Given the description of an element on the screen output the (x, y) to click on. 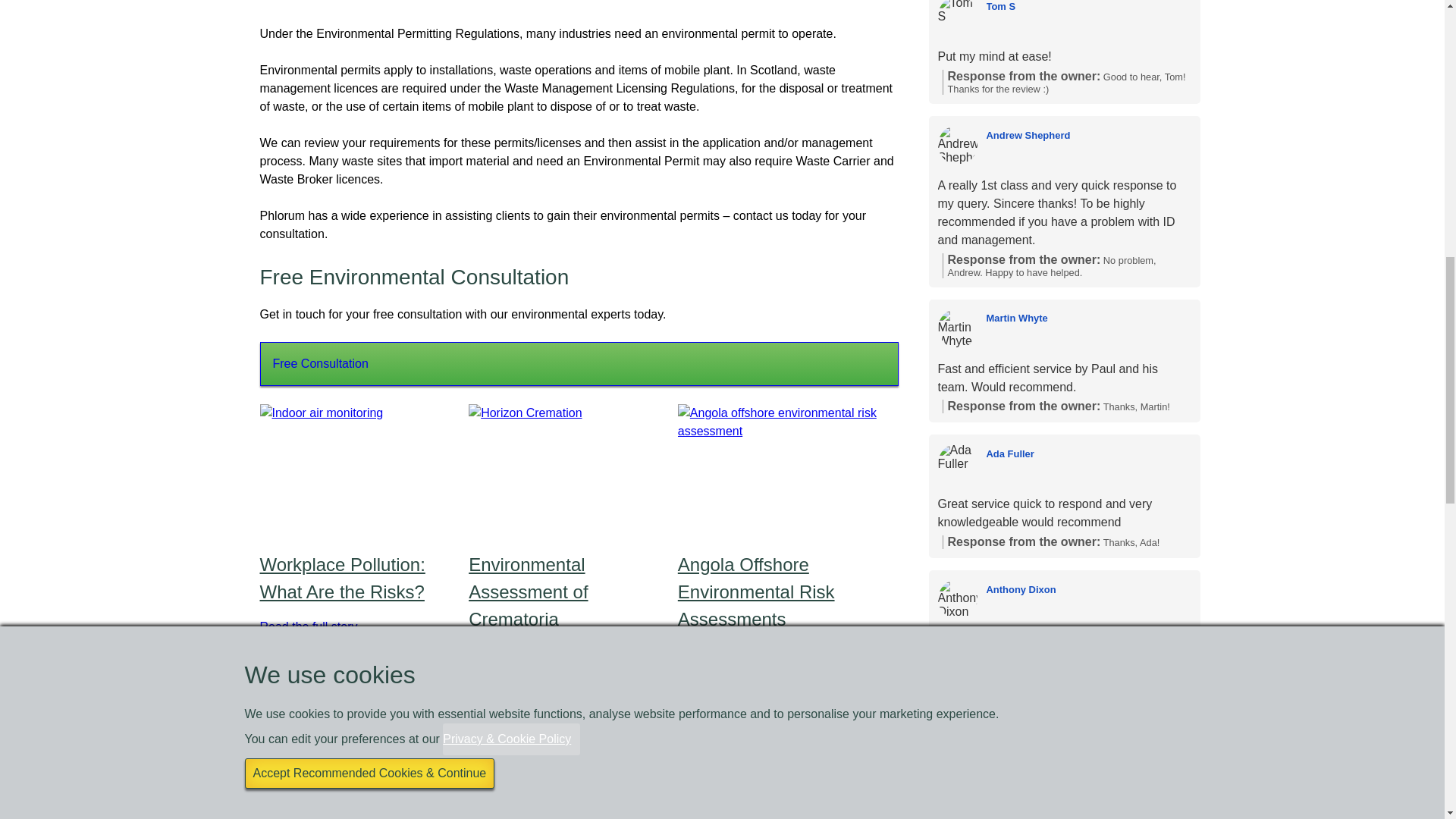
Andrew Shepherd (1088, 134)
Response from the owner: Thanks, Ada! (1066, 541)
View all posts by Dr Paul Beckett (565, 698)
Martin Whyte (956, 328)
View all posts by Dr Paul Beckett (356, 671)
